Given the description of an element on the screen output the (x, y) to click on. 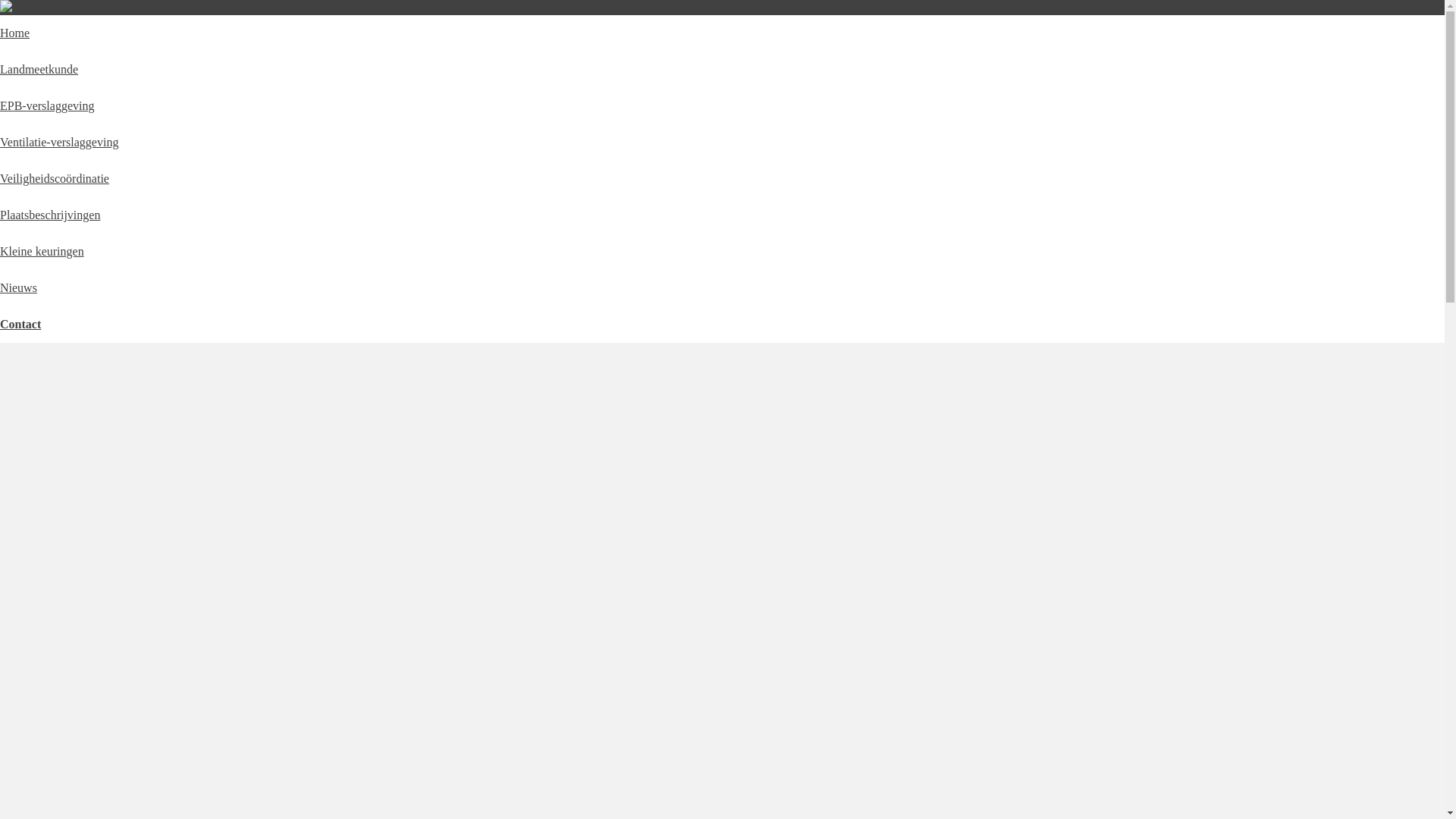
EPB-verslaggeving Element type: text (47, 105)
Nieuws Element type: text (18, 287)
Kleine keuringen Element type: text (42, 250)
Landmeetkunde Element type: text (39, 68)
Contact Element type: text (20, 323)
Home Element type: text (14, 32)
Ventilatie-verslaggeving Element type: text (59, 141)
Plaatsbeschrijvingen Element type: text (50, 214)
